Given the description of an element on the screen output the (x, y) to click on. 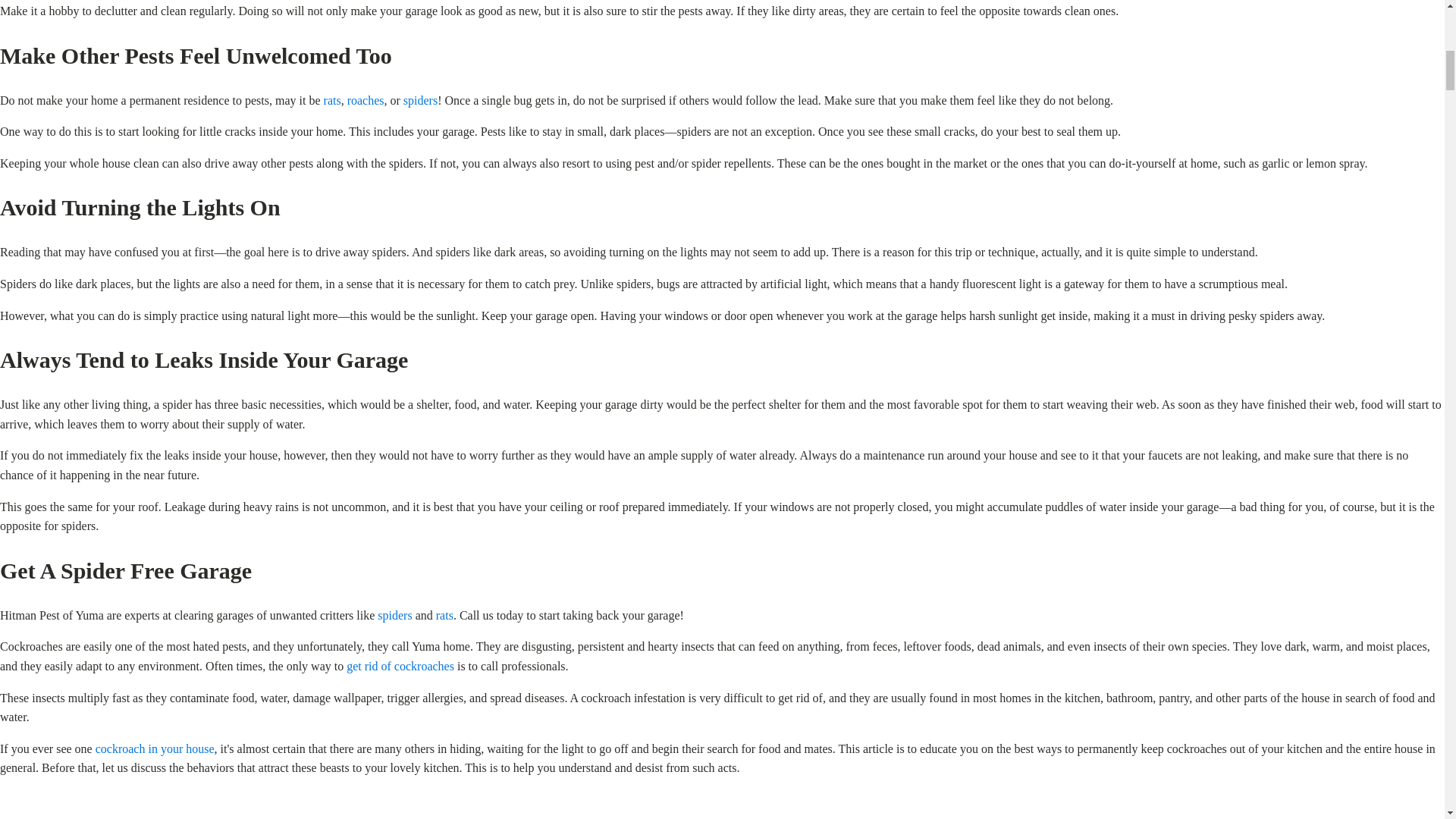
get rid of cockroaches (400, 666)
spiders (420, 100)
cockroach in your house (155, 748)
rats (443, 615)
roaches (365, 100)
rats (331, 100)
spiders (394, 615)
